Given the description of an element on the screen output the (x, y) to click on. 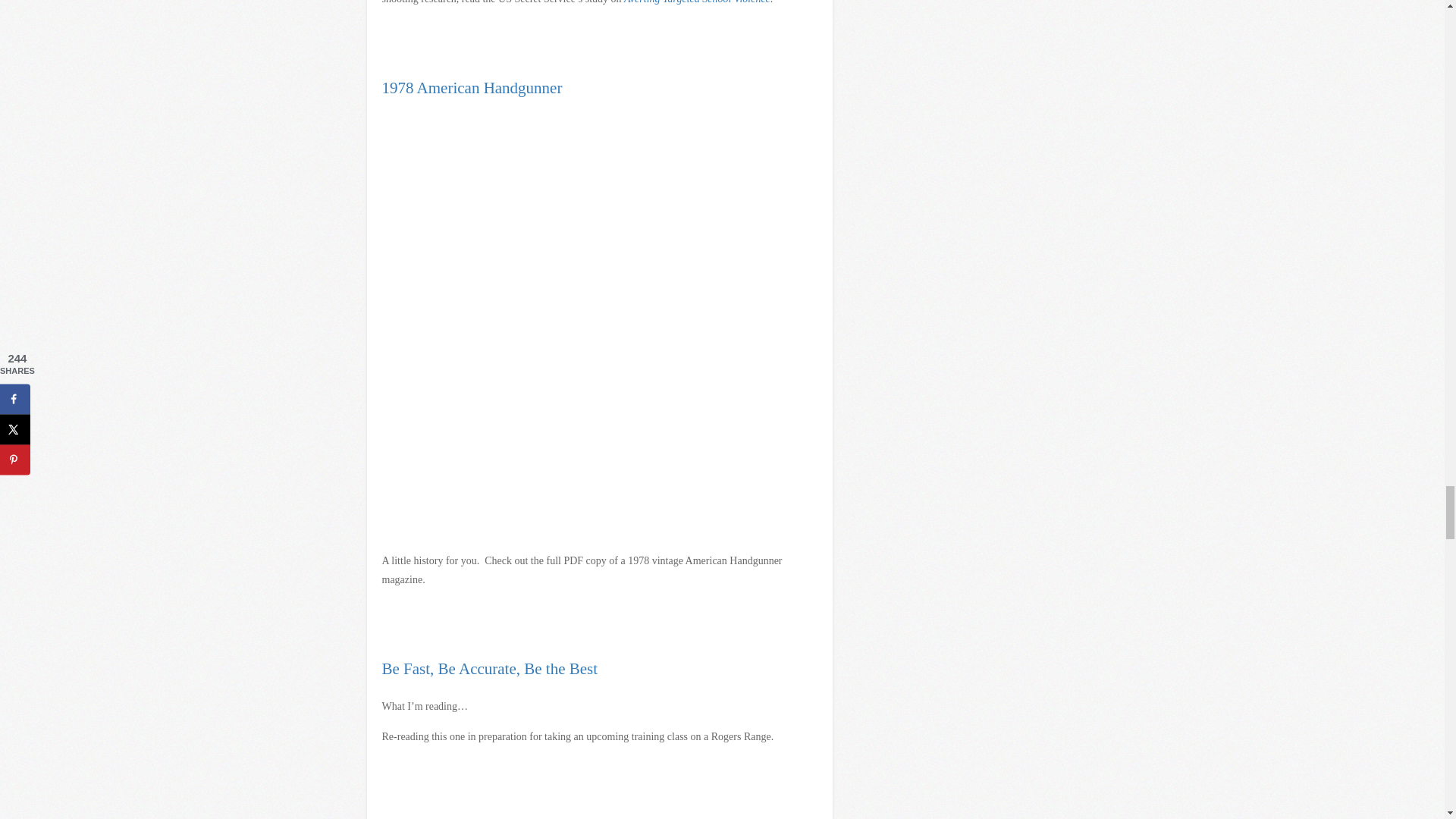
Averting Targeted School Violence (697, 2)
1978 American Handgunner (471, 87)
